Given the description of an element on the screen output the (x, y) to click on. 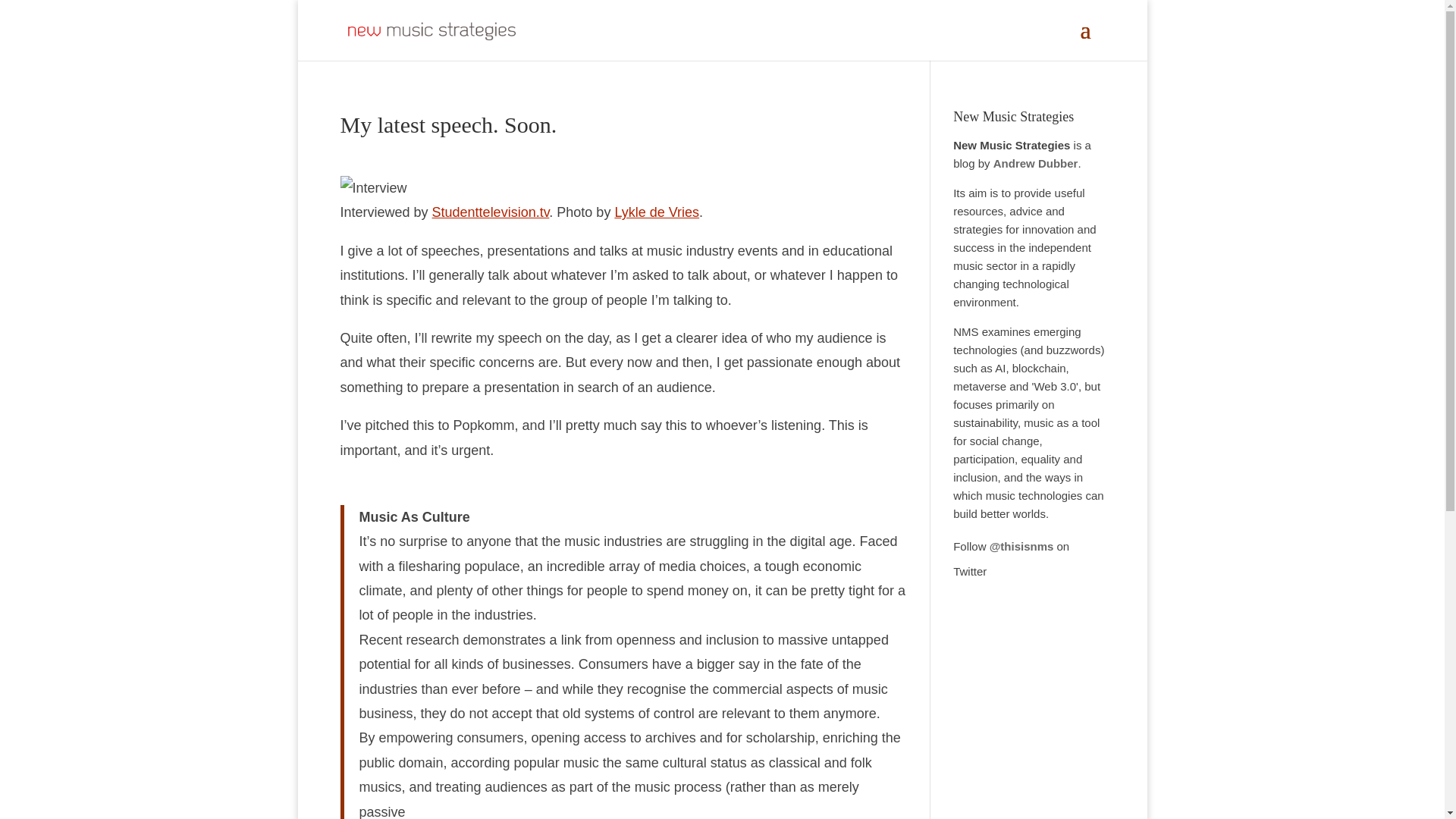
Lykle de Vries (656, 212)
Andrew Dubber (1035, 163)
Studenttelevision.tv (491, 212)
